Given the description of an element on the screen output the (x, y) to click on. 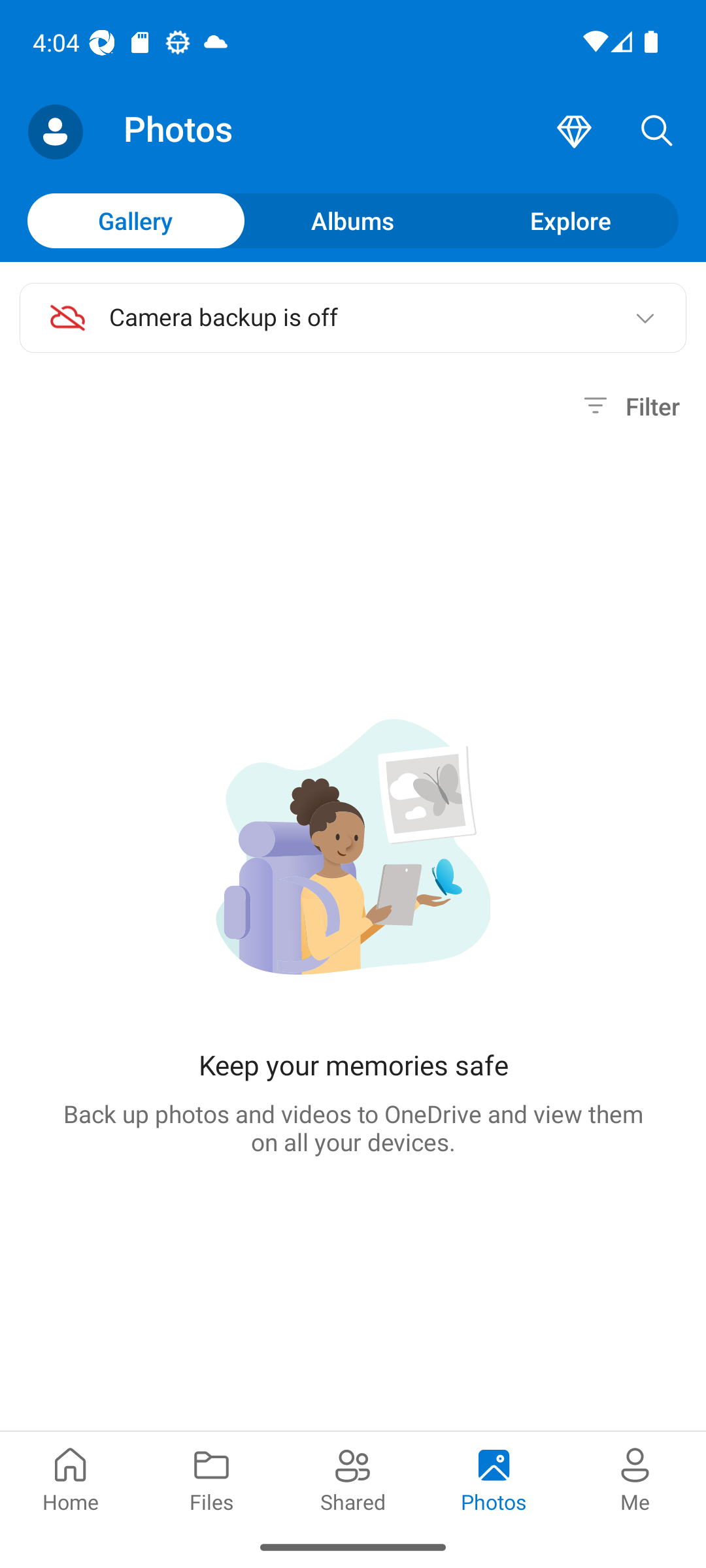
Account switcher (55, 131)
Premium button (574, 131)
Search button (656, 131)
Albums (352, 219)
Explore (569, 219)
Expand camera status banner (645, 318)
Filter (628, 405)
Home pivot Home (70, 1478)
Files pivot Files (211, 1478)
Shared pivot Shared (352, 1478)
Me pivot Me (635, 1478)
